Given the description of an element on the screen output the (x, y) to click on. 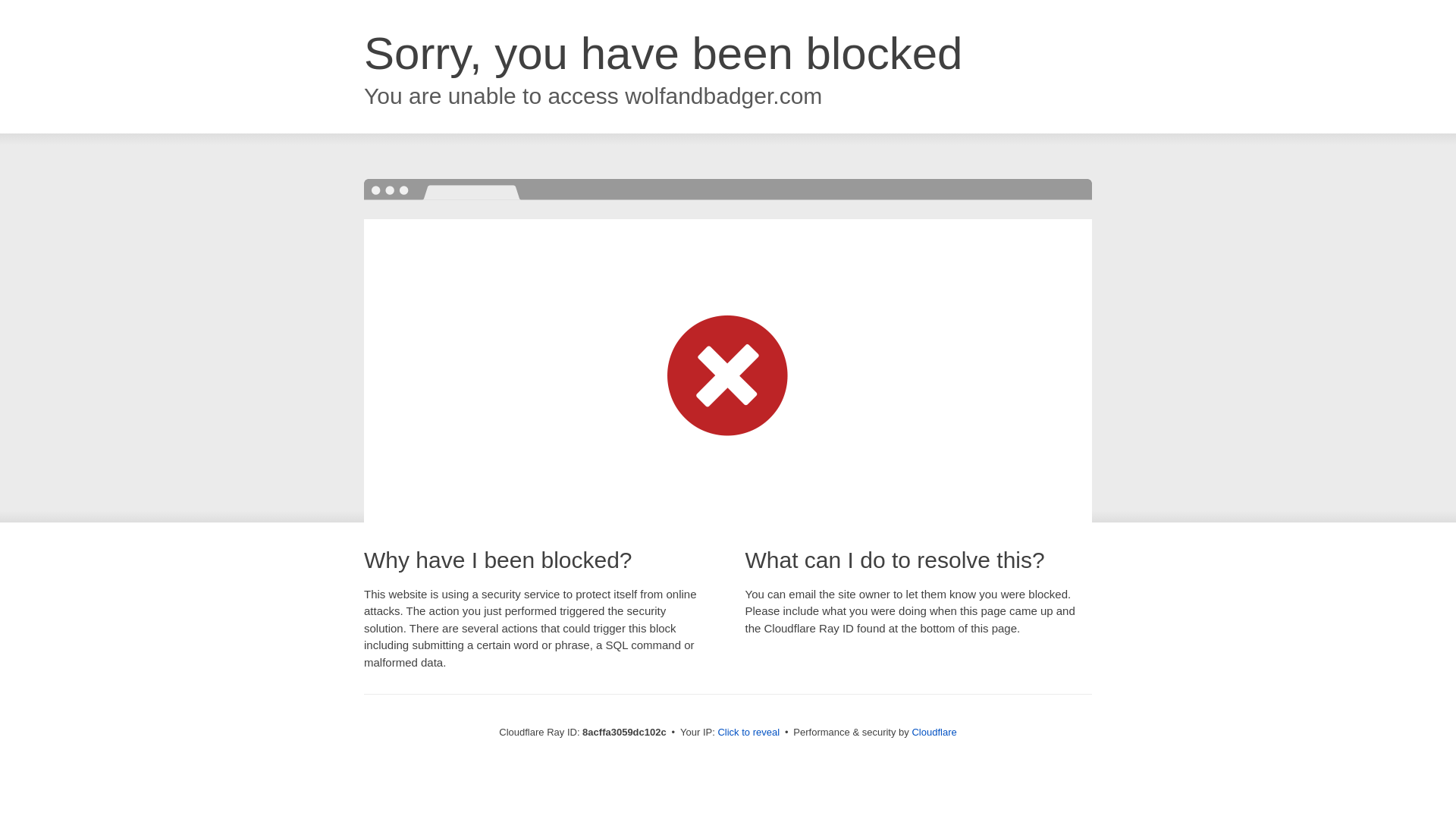
Click to reveal (747, 732)
Cloudflare (933, 731)
